Given the description of an element on the screen output the (x, y) to click on. 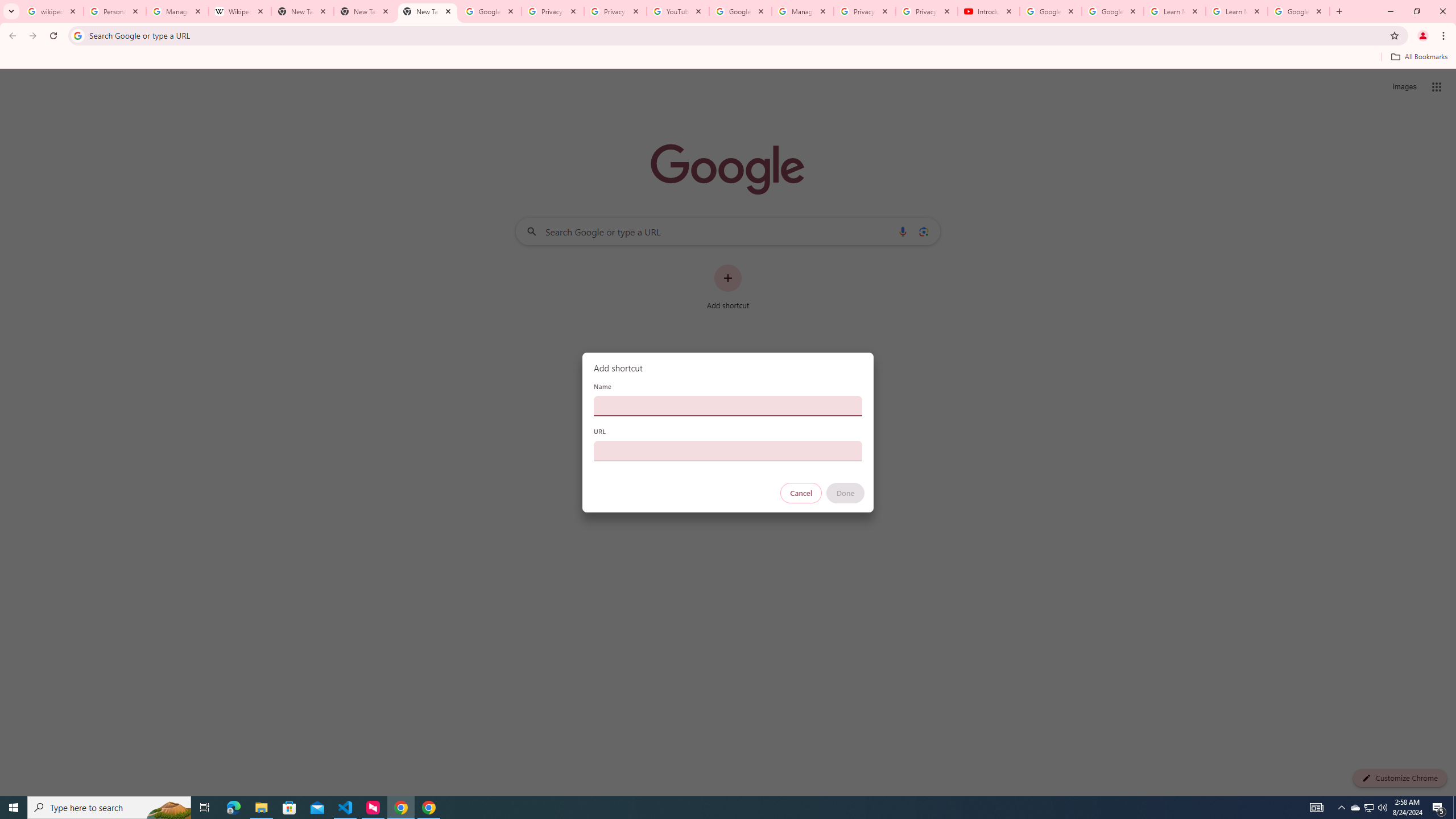
New Tab (365, 11)
Personalization & Google Search results - Google Search Help (114, 11)
Introduction | Google Privacy Policy - YouTube (988, 11)
Google Account Help (1050, 11)
New Tab (427, 11)
Google Drive: Sign-in (490, 11)
Google Account (1298, 11)
Bookmarks (728, 58)
All Bookmarks (1418, 56)
